Given the description of an element on the screen output the (x, y) to click on. 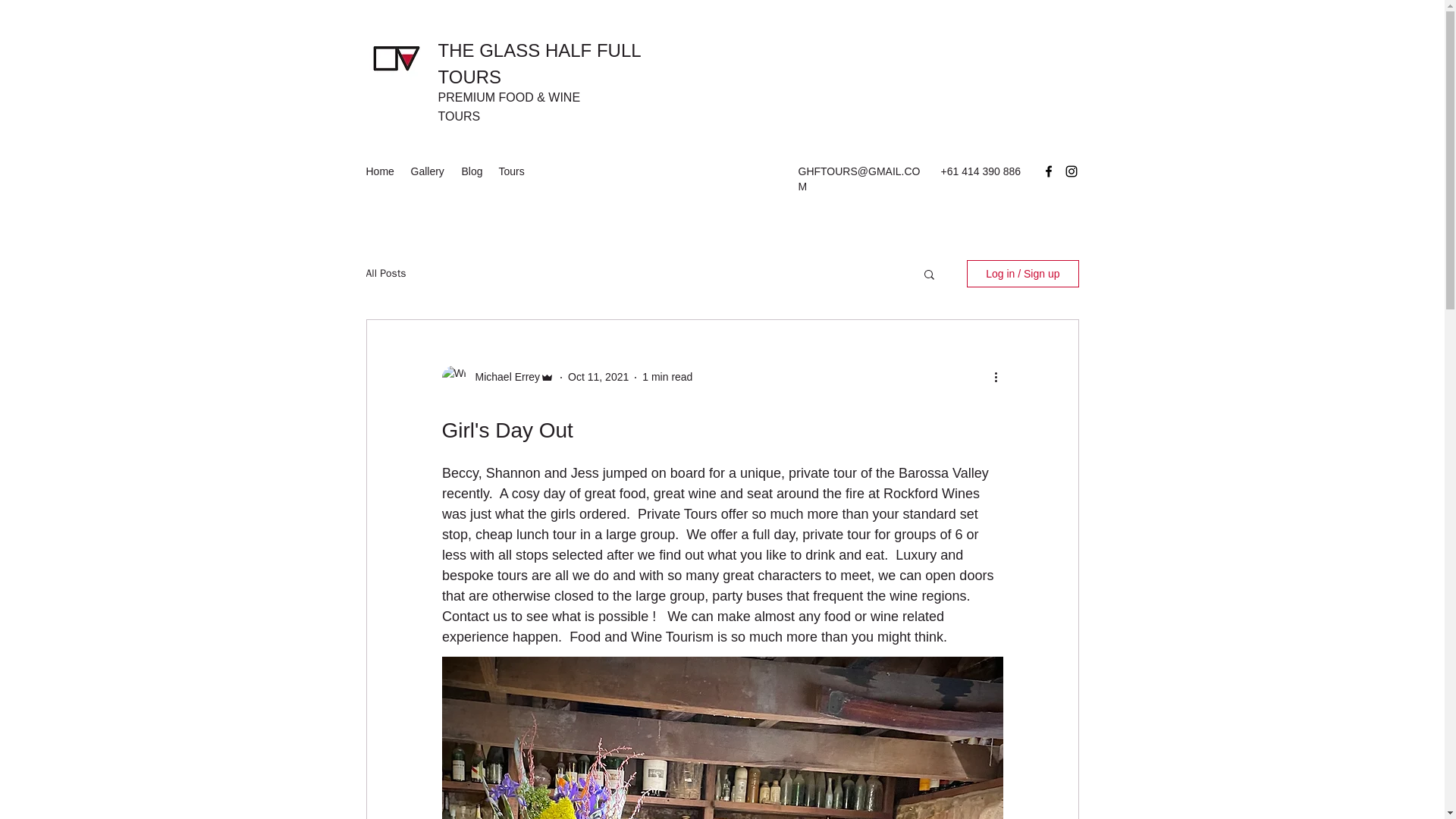
Home (380, 170)
Blog (471, 170)
Tours (513, 170)
1 min read (667, 377)
Gallery (428, 170)
Michael Errey (502, 376)
All Posts (385, 273)
Oct 11, 2021 (597, 377)
